Given the description of an element on the screen output the (x, y) to click on. 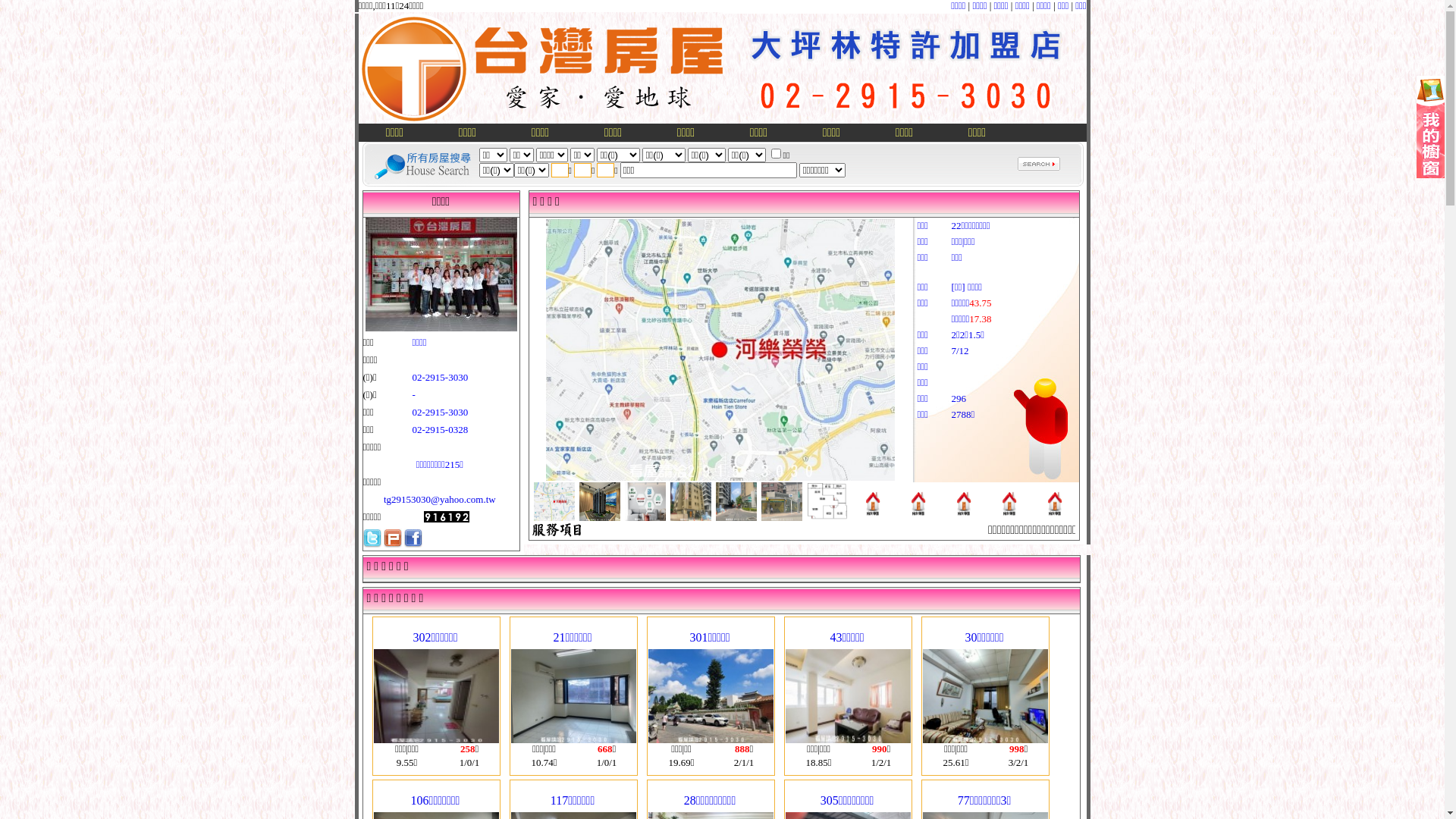
tg29153030@yahoo.com.tw Element type: text (439, 499)
